Given the description of an element on the screen output the (x, y) to click on. 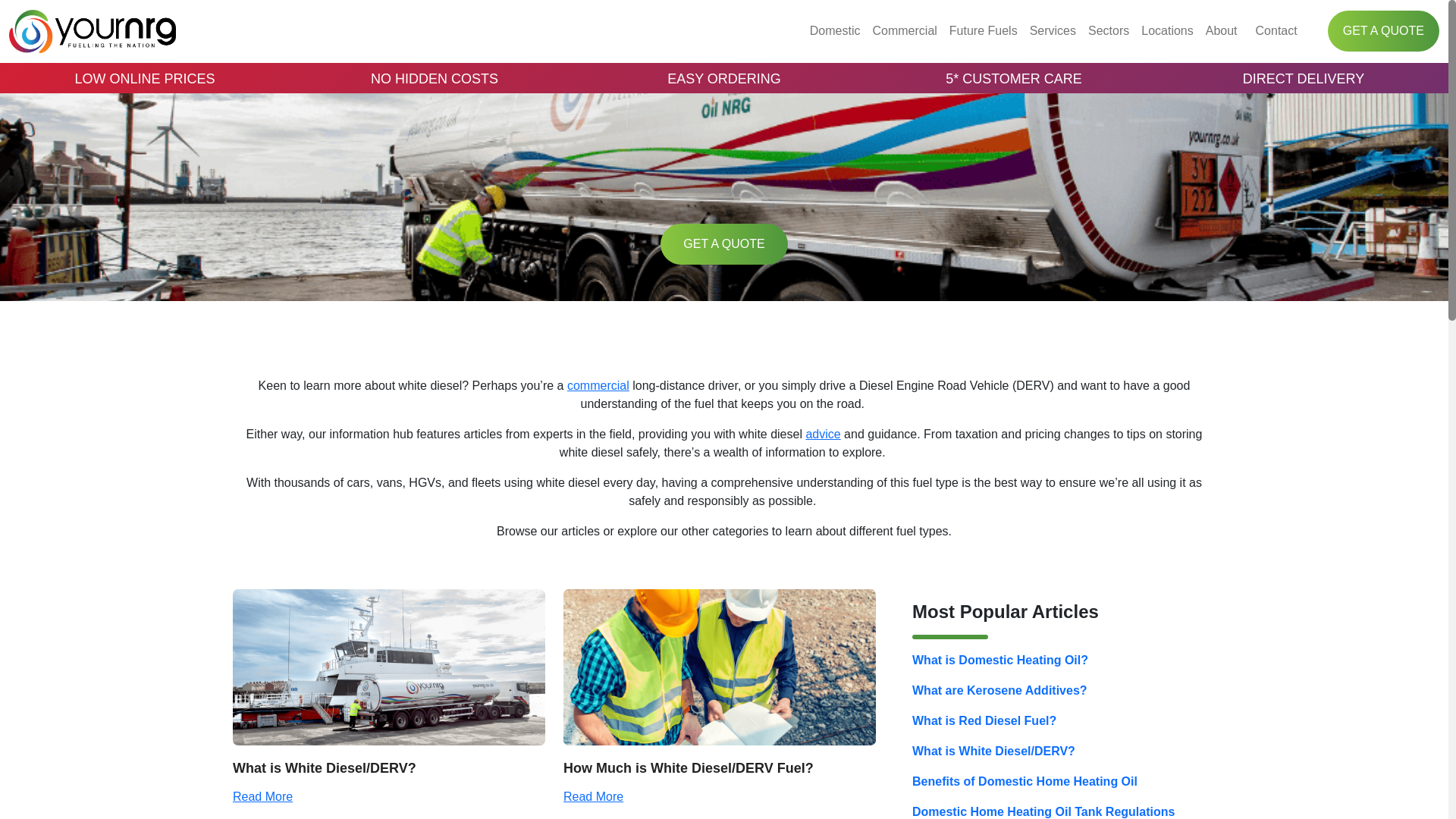
YourNRG Commercial Heating Oil (597, 385)
Commercial (904, 30)
Locations (1167, 30)
Services (1052, 30)
Domestic (834, 30)
Sectors (1108, 30)
Future Fuels (983, 30)
advice hub (822, 433)
